Given the description of an element on the screen output the (x, y) to click on. 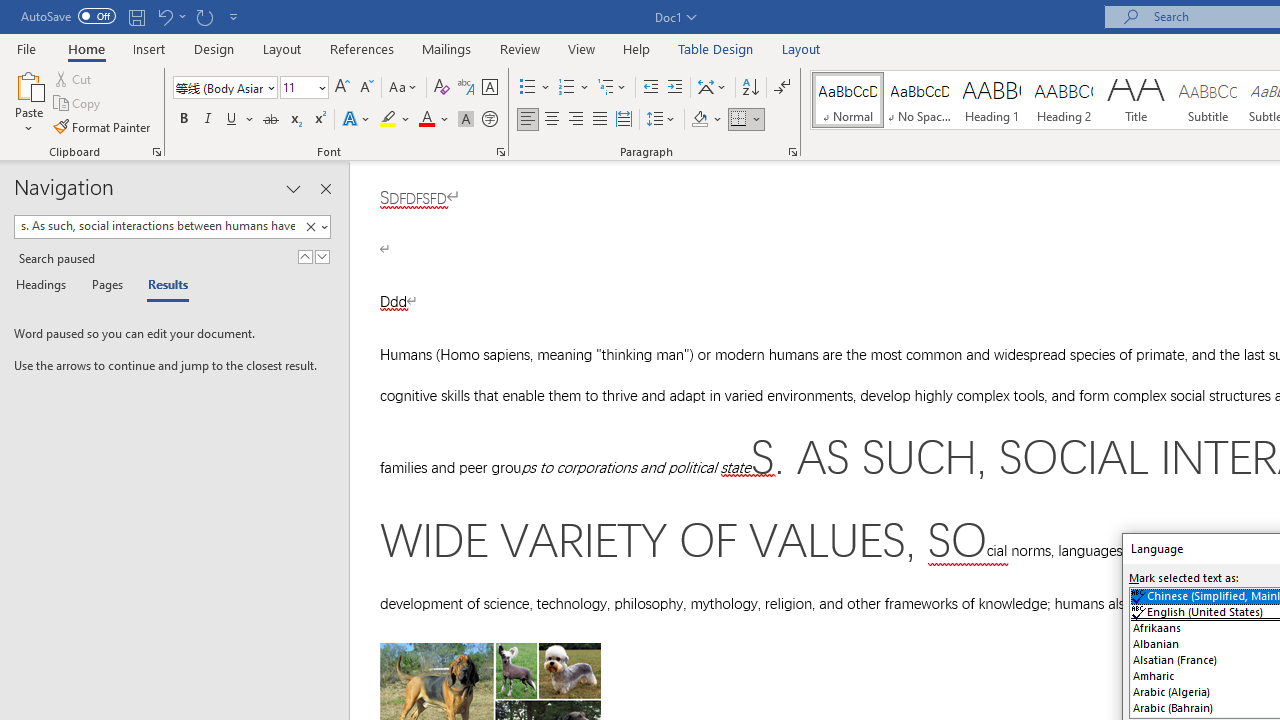
Repeat Style (204, 15)
